Given the description of an element on the screen output the (x, y) to click on. 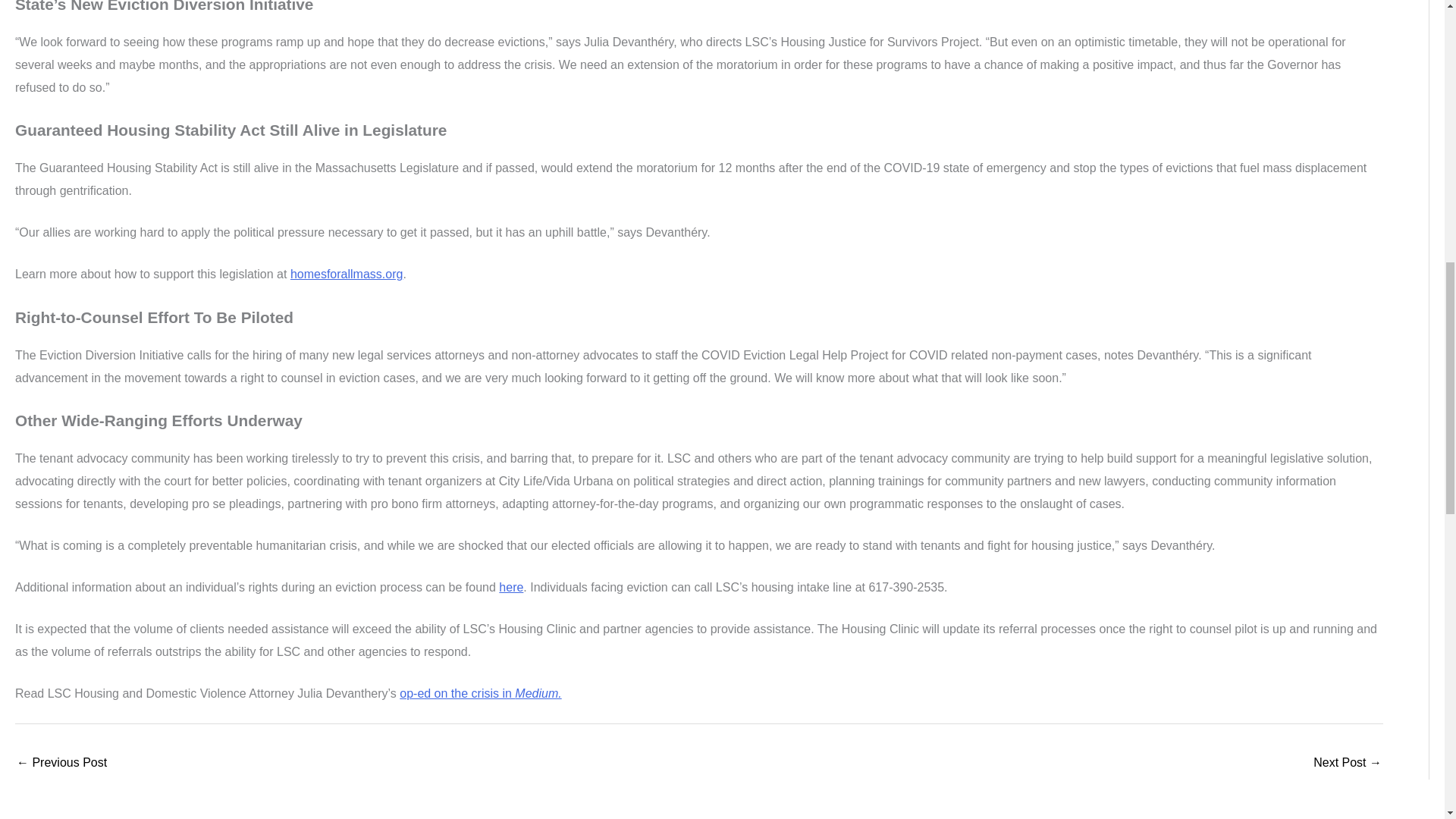
Students Work with Clients to Seal and Expunge Records (1347, 764)
